Given the description of an element on the screen output the (x, y) to click on. 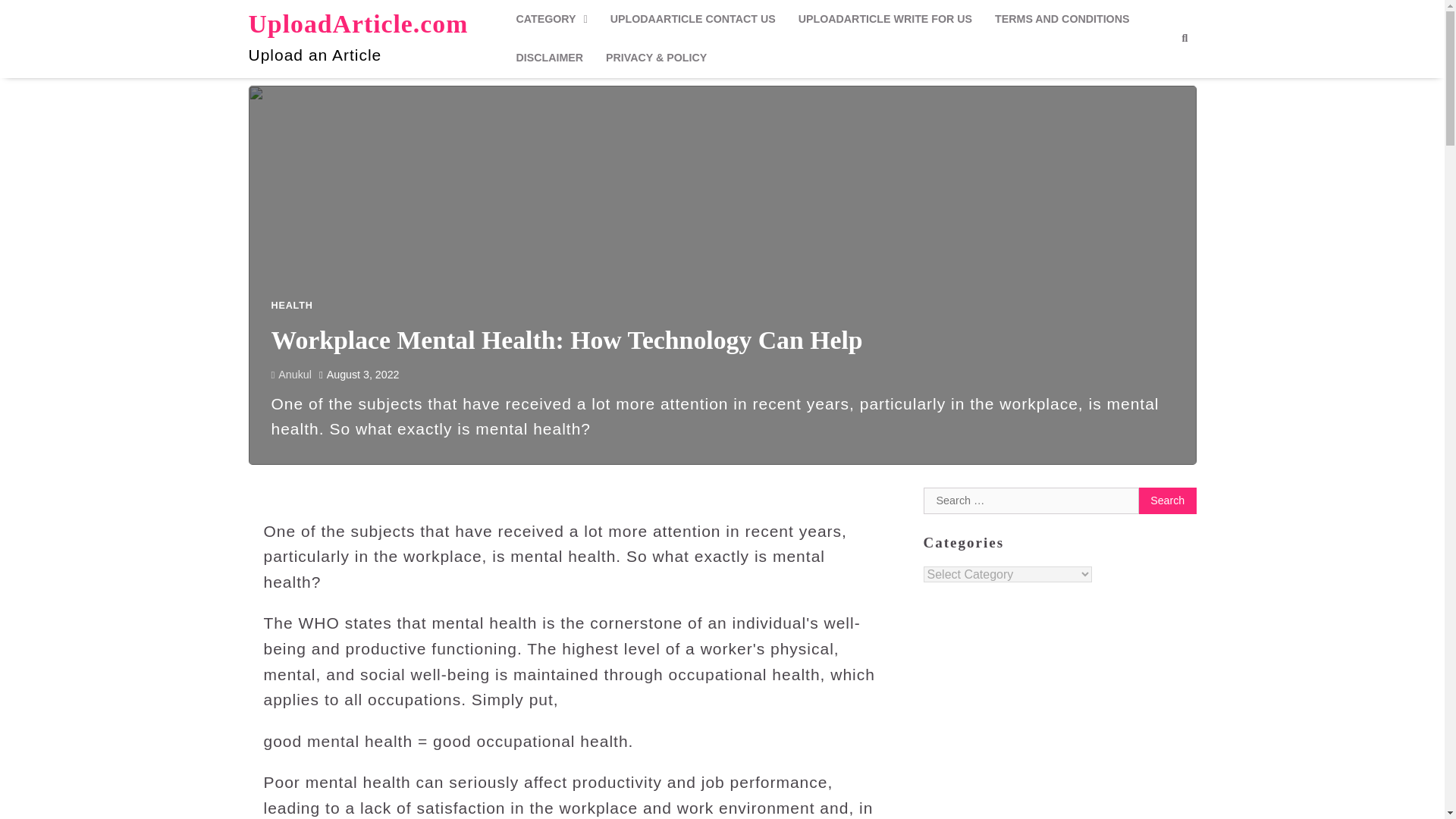
UPLODAARTICLE CONTACT US (692, 19)
Search (1157, 74)
Search (1167, 501)
Search (1184, 38)
UPLOADARTICLE WRITE FOR US (885, 19)
CATEGORY (550, 19)
Search (1167, 501)
DISCLAIMER (548, 57)
Anukul (290, 374)
TERMS AND CONDITIONS (1062, 19)
